Given the description of an element on the screen output the (x, y) to click on. 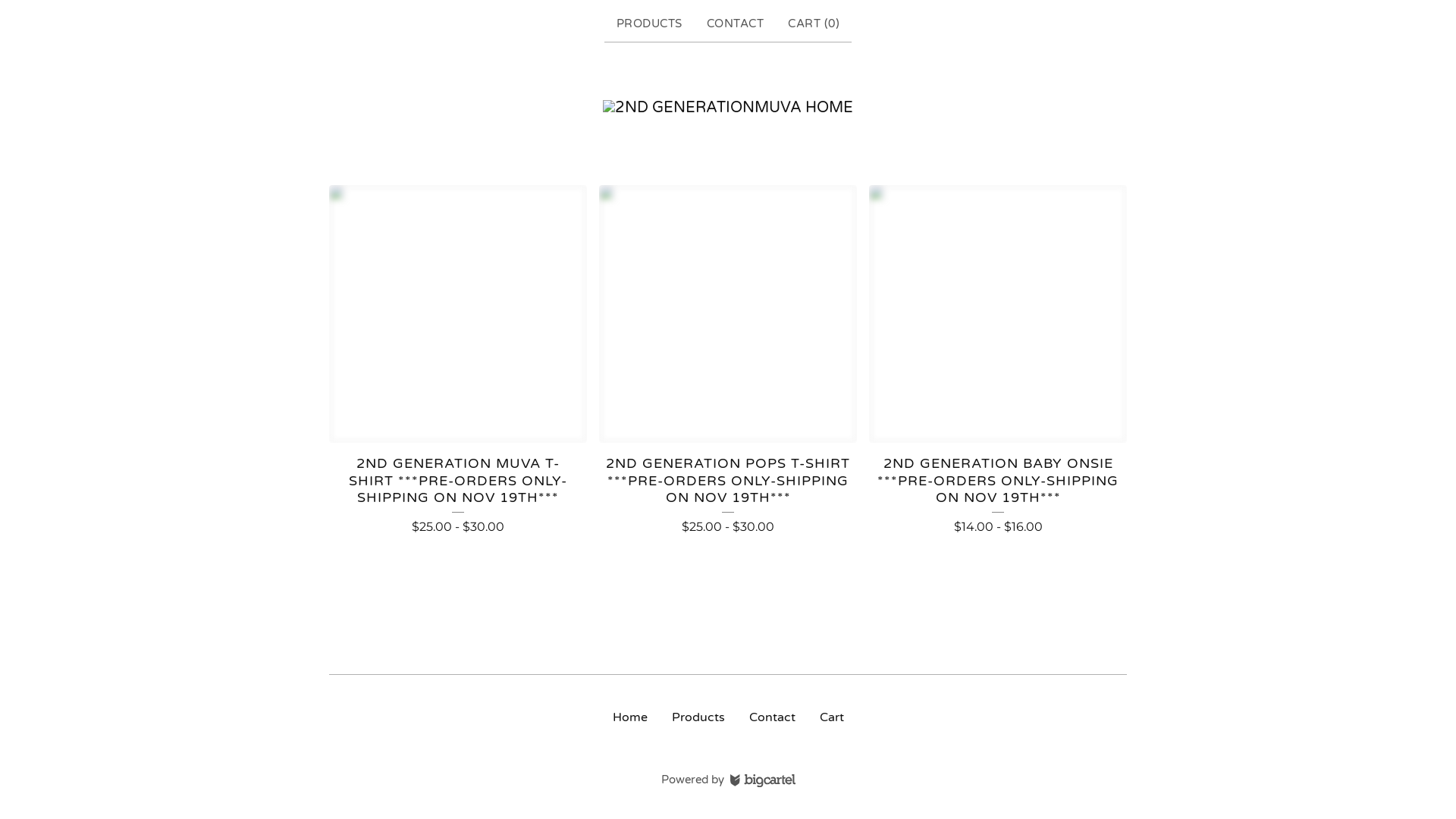
Home Element type: hover (727, 107)
Powered by Element type: text (728, 779)
PRODUCTS Element type: text (649, 23)
CONTACT Element type: text (735, 23)
CART (0) Element type: text (813, 23)
Home Element type: text (629, 717)
Products Element type: text (698, 717)
Contact Element type: text (772, 717)
Cart Element type: text (830, 717)
